Given the description of an element on the screen output the (x, y) to click on. 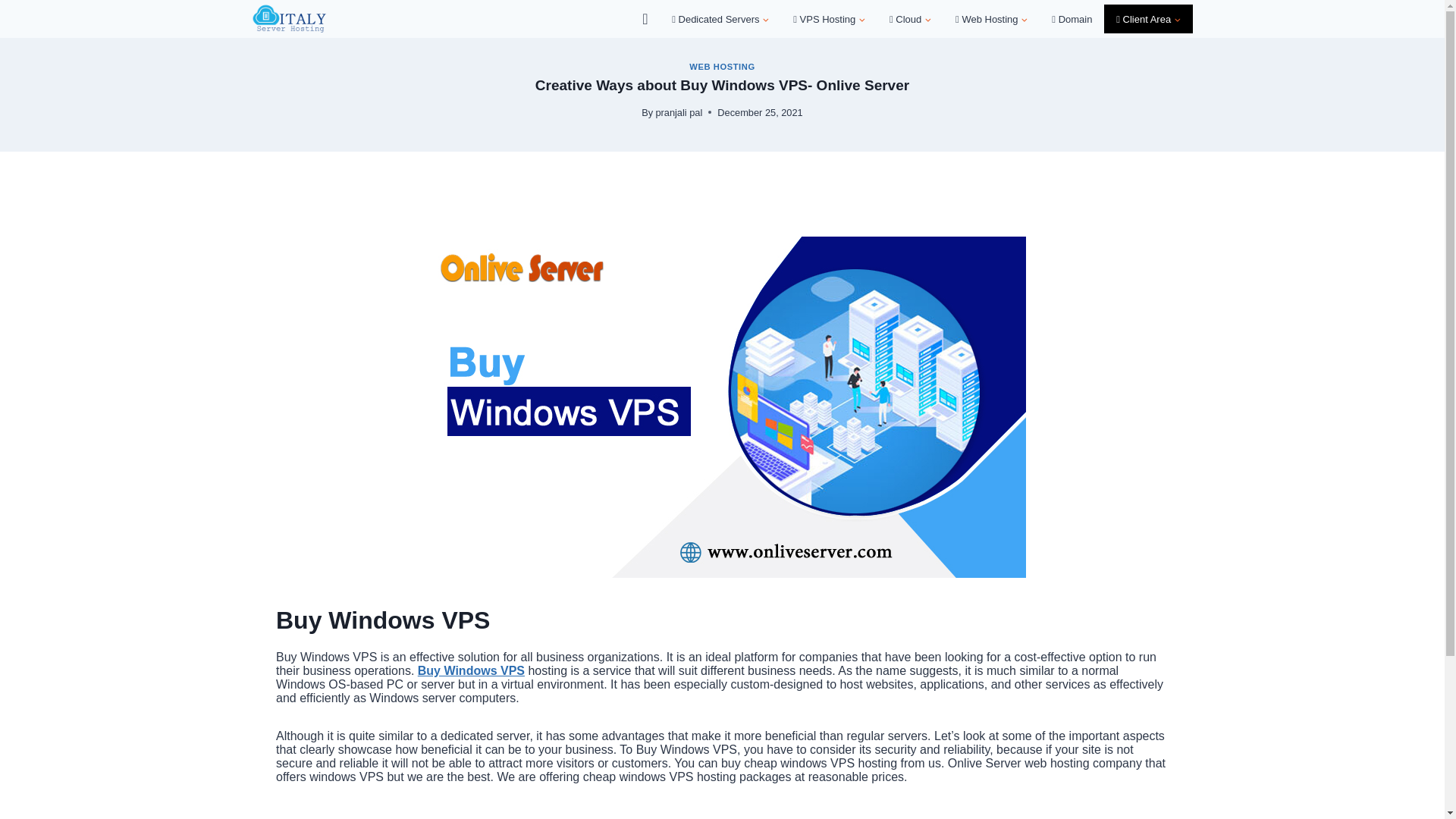
VPS Hosting (828, 18)
Domain (1071, 18)
Cloud (910, 18)
Web Hosting (991, 18)
Client Area (1147, 18)
Dedicated Servers (719, 18)
